Given the description of an element on the screen output the (x, y) to click on. 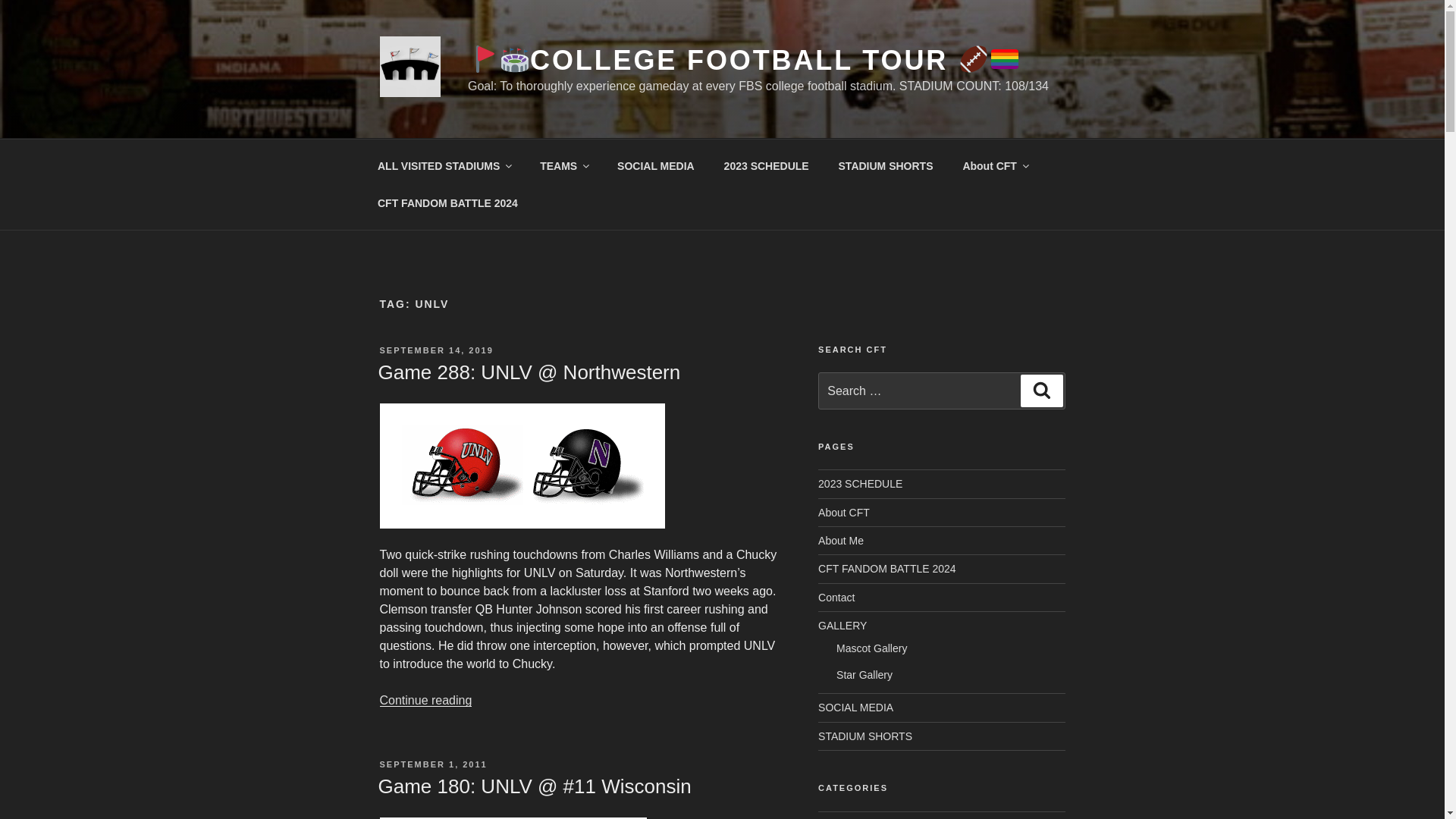
COLLEGE FOOTBALL TOUR (743, 60)
ALL VISITED STADIUMS (443, 165)
TEAMS (564, 165)
